Given the description of an element on the screen output the (x, y) to click on. 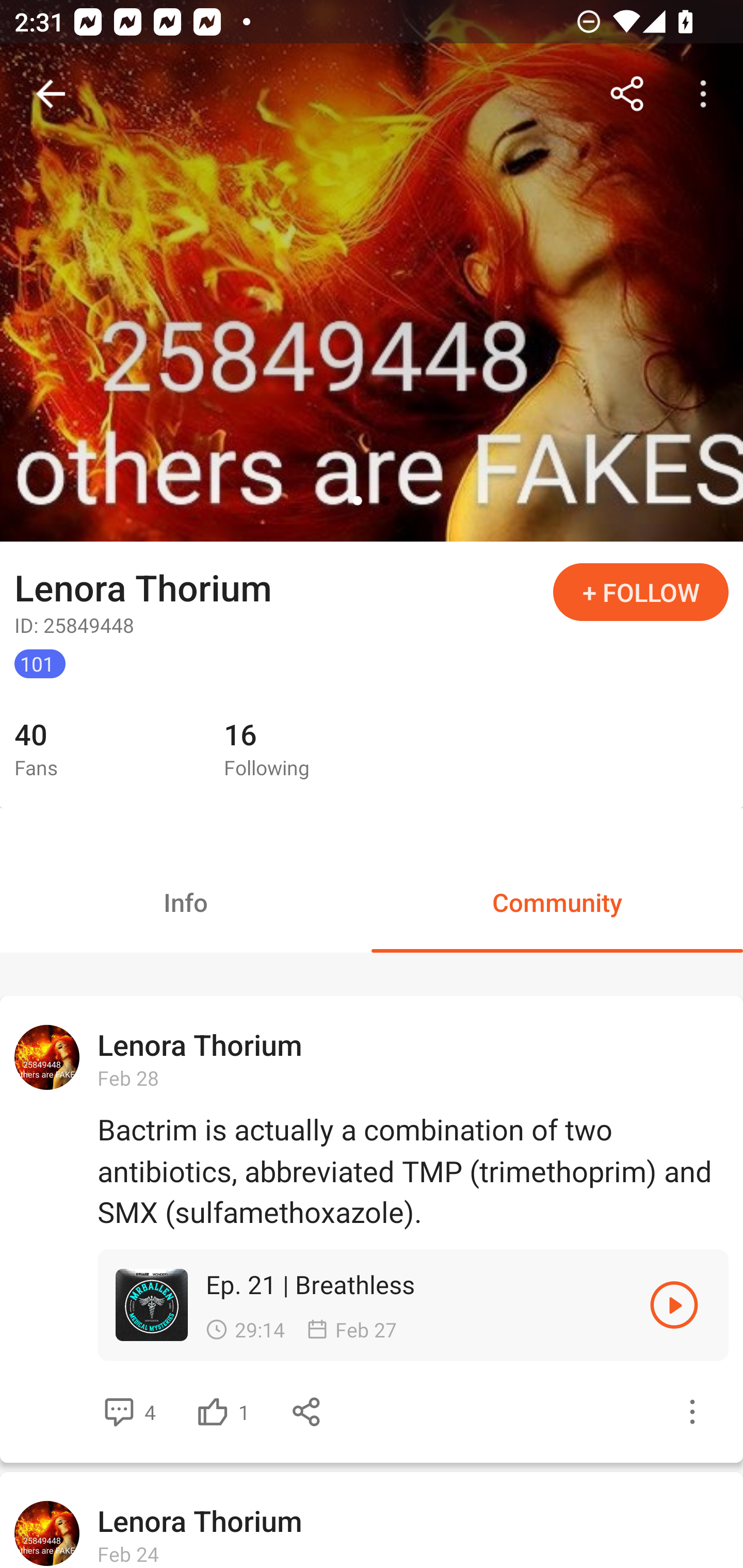
Navigate up (50, 93)
Share (626, 93)
More options (706, 93)
+ FOLLOW (640, 591)
40 Fans (104, 750)
16 Following (313, 750)
Info (185, 902)
Community (557, 902)
Ep. 21 | Breathless 1 29:14  Feb 27  (412, 1305)
 (673, 1305)
 (119, 1411)
 (212, 1411)
 (307, 1411)
 (692, 1411)
Lenora Thorium Feb 24 (371, 1520)
